Given the description of an element on the screen output the (x, y) to click on. 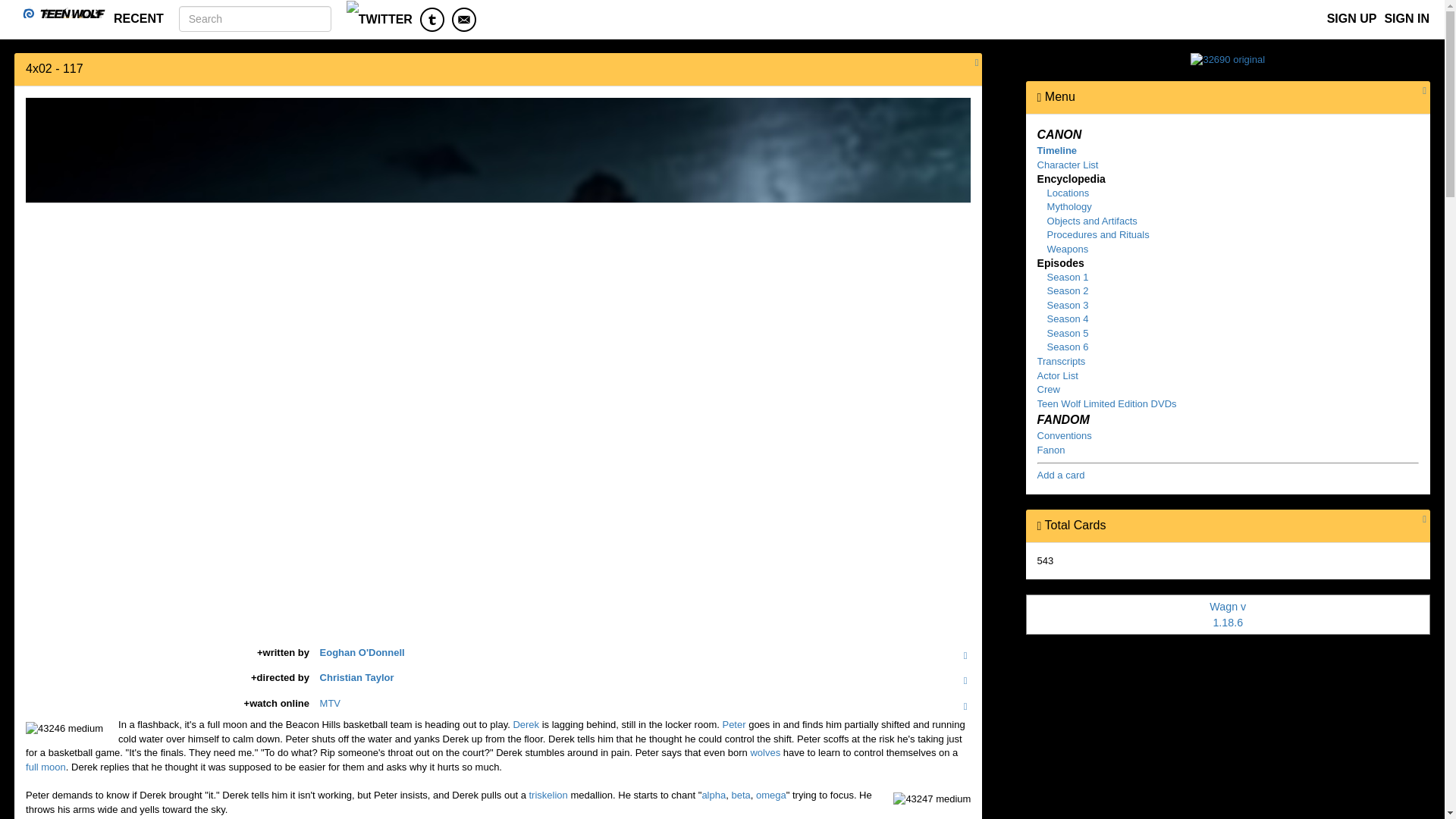
SIGN UP (1351, 18)
SIGN IN (1406, 18)
close Total Cards (1039, 525)
Peter (733, 724)
alpha (713, 794)
omega (770, 794)
close Menu (1039, 97)
Derek (525, 724)
RECENT (138, 18)
wolves (764, 752)
full moon (45, 767)
triskelion (548, 794)
MTV (330, 703)
Eoghan O'Donnell (362, 652)
beta (739, 794)
